Given the description of an element on the screen output the (x, y) to click on. 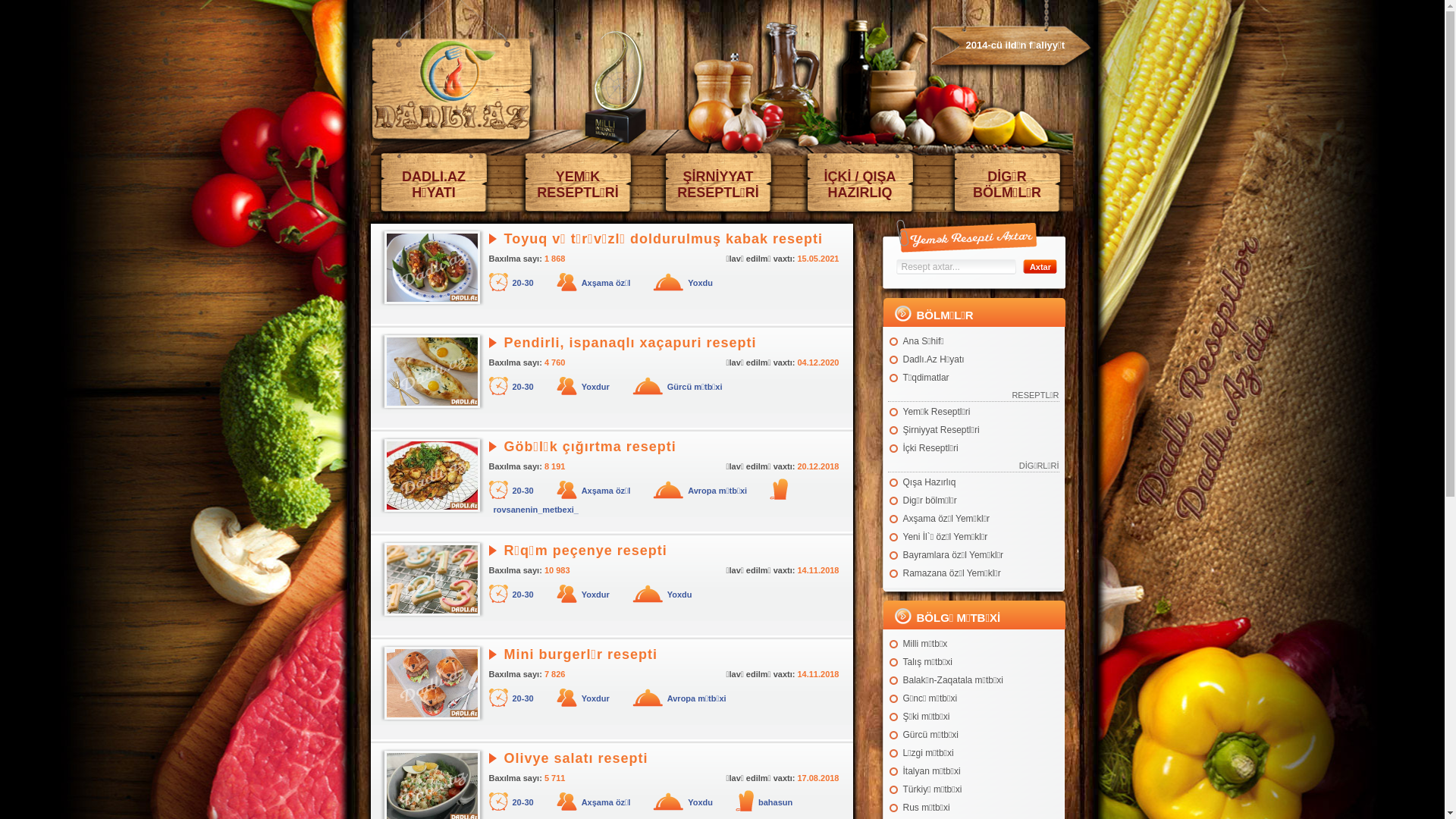
Yoxdur Element type: text (595, 386)
Yoxdur Element type: text (595, 594)
Yoxdu Element type: text (699, 801)
20-30 Element type: text (522, 386)
Yoxdu Element type: text (679, 594)
Yoxdur Element type: text (595, 697)
20-30 Element type: text (522, 697)
rovsanenin_metbexi_ Element type: text (535, 509)
20-30 Element type: text (522, 801)
Yoxdu Element type: text (699, 282)
20-30 Element type: text (522, 594)
bahasun Element type: text (775, 801)
20-30 Element type: text (522, 490)
20-30 Element type: text (522, 282)
Axtar Element type: text (1040, 266)
